Given the description of an element on the screen output the (x, y) to click on. 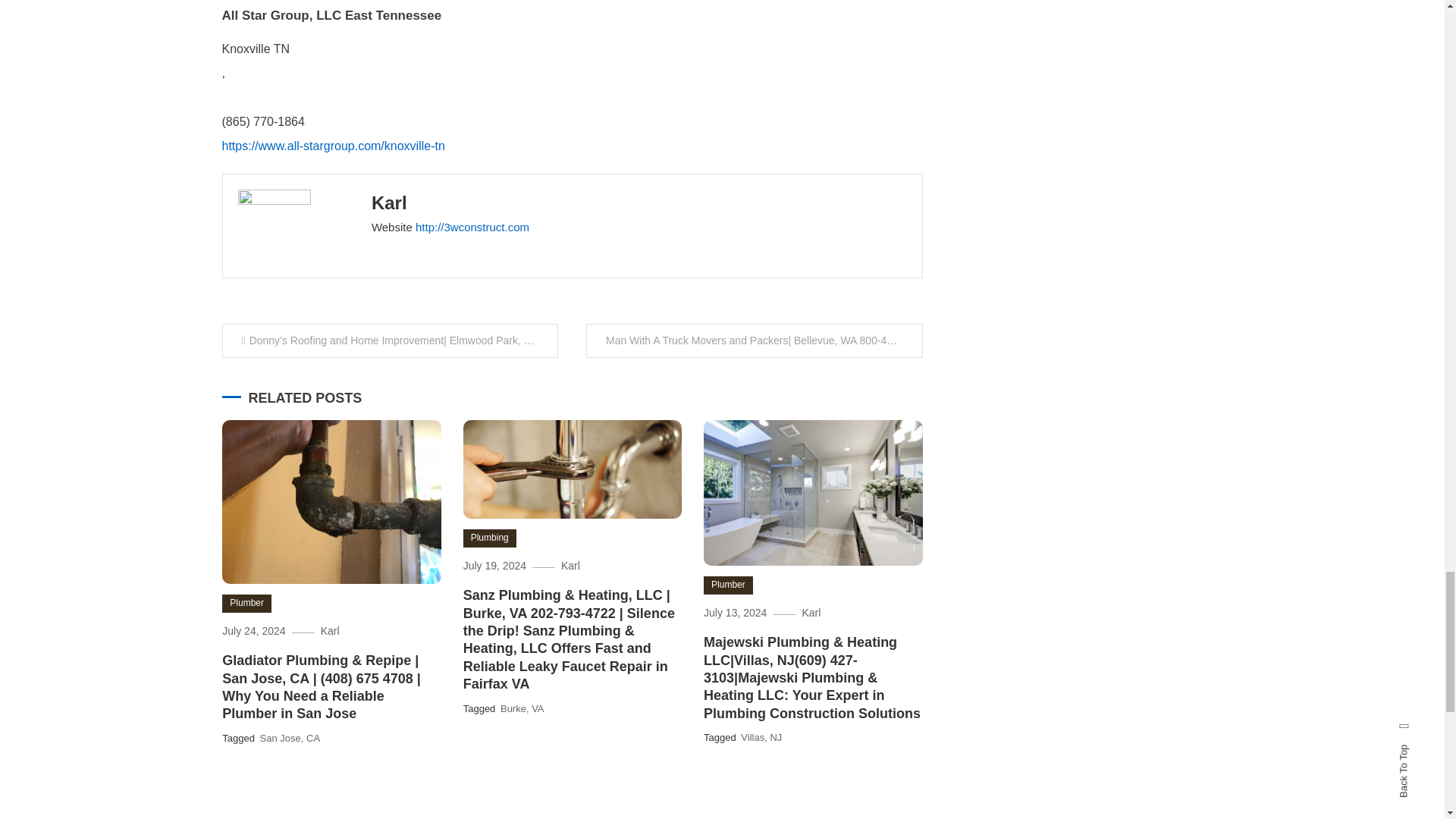
Posts by Karl (389, 202)
